Given the description of an element on the screen output the (x, y) to click on. 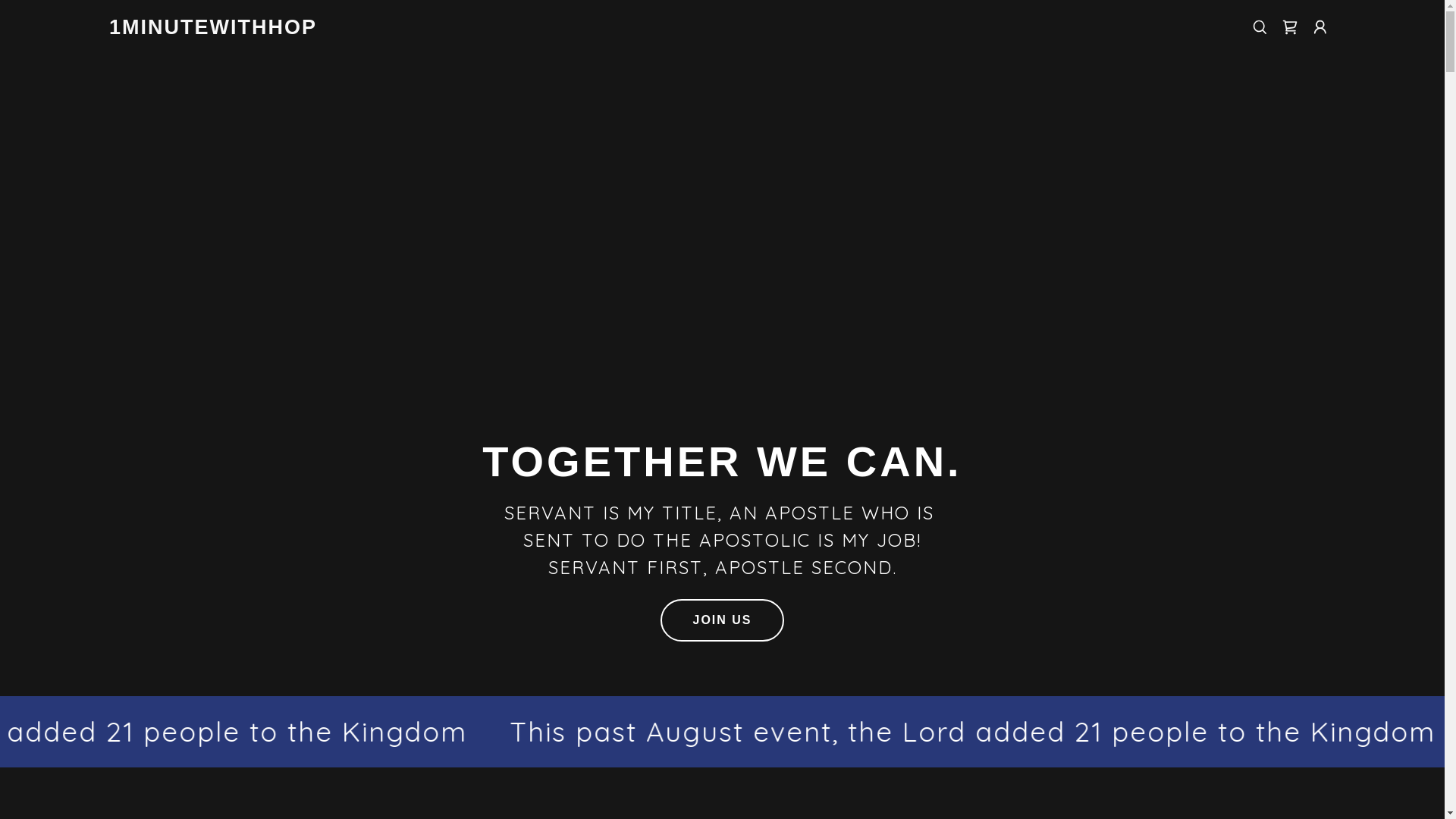
JOIN US Element type: text (721, 620)
1MINUTEWITHHOP Element type: text (212, 28)
